Given the description of an element on the screen output the (x, y) to click on. 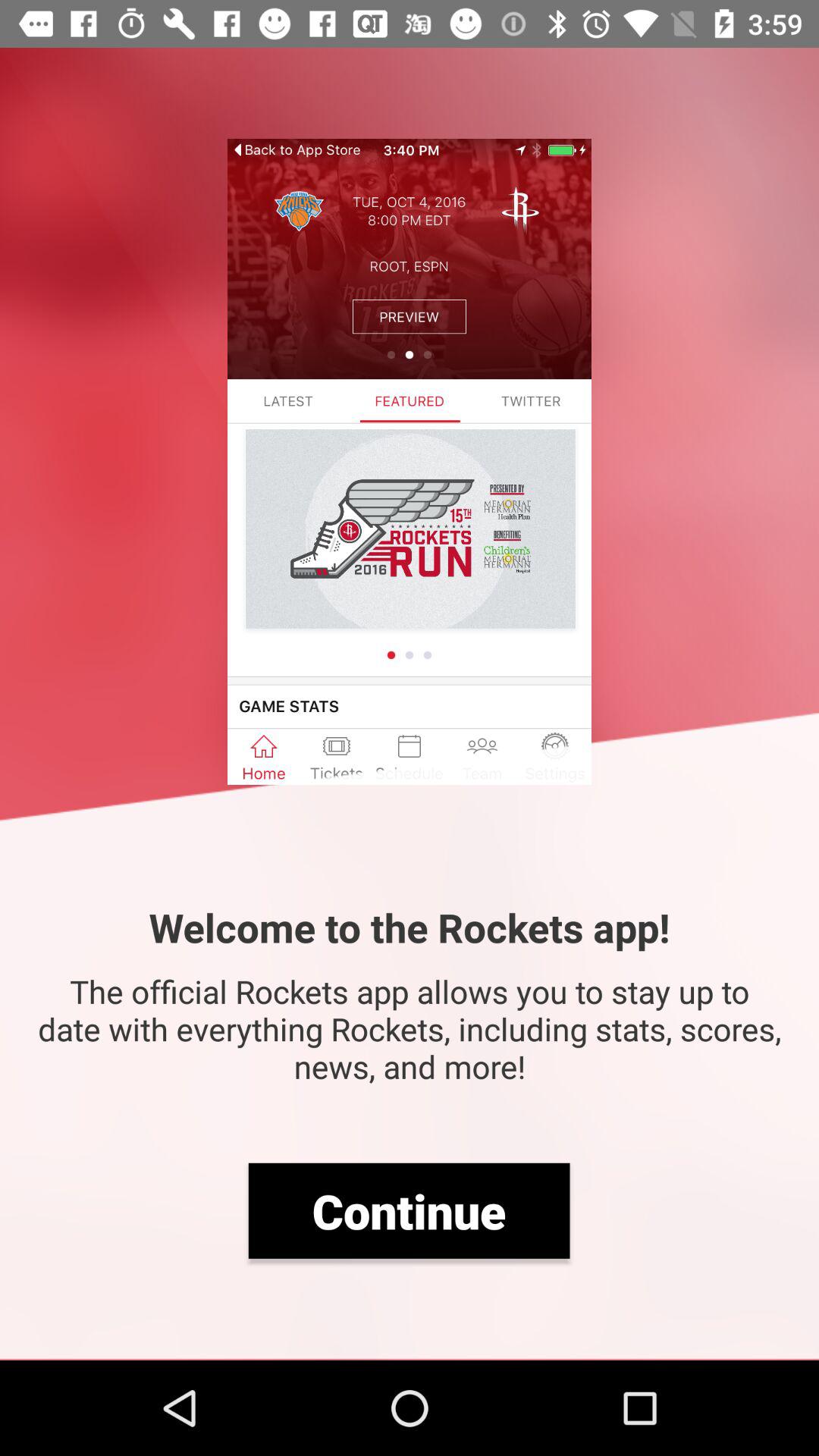
scroll to the continue (408, 1210)
